Given the description of an element on the screen output the (x, y) to click on. 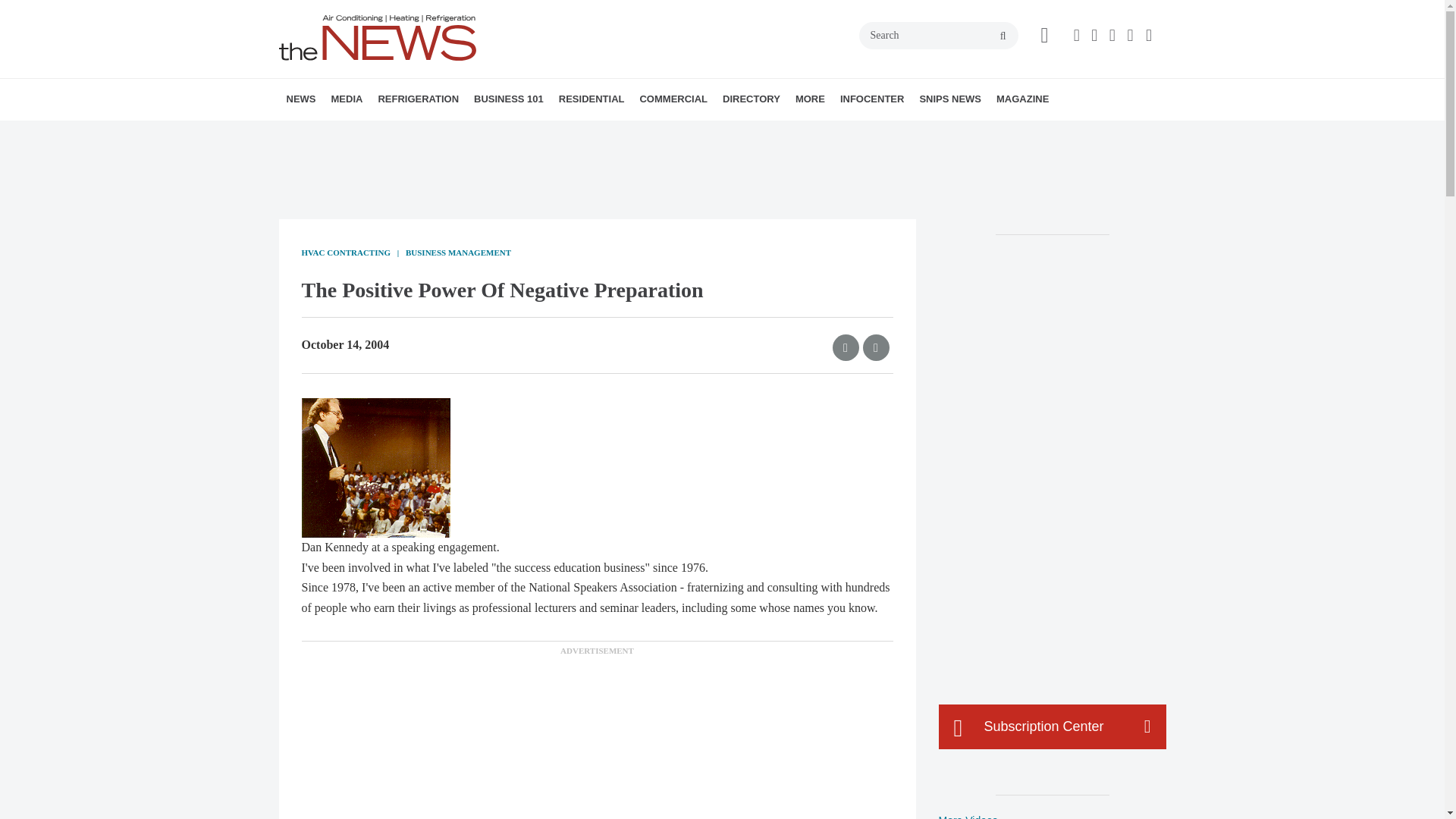
PODCASTS (430, 132)
NEW HVAC PRODUCTS (380, 132)
AHR EXPO 2024 VIDEOS (424, 132)
REFRIGERANT REGULATIONS (472, 132)
FROSTLINES (478, 132)
REFRIGERANTS (464, 132)
ONLINE POLL (452, 132)
VIDEOS (417, 132)
search (1002, 36)
Search (938, 35)
